Given the description of an element on the screen output the (x, y) to click on. 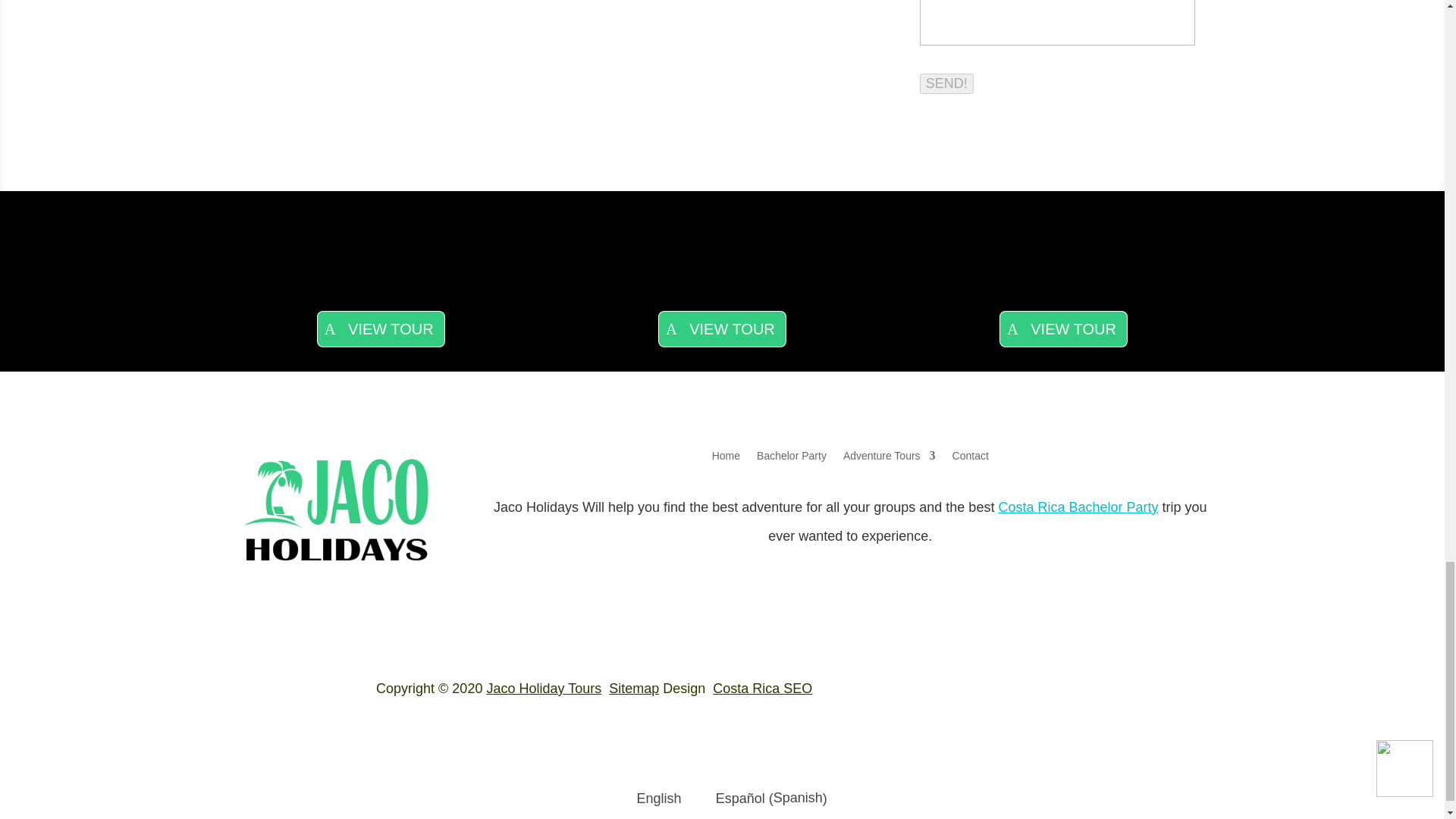
Adventure Tours (889, 458)
Jaco Adventure Tours (889, 458)
VIEW TOUR (1062, 329)
Bachelor Party (792, 458)
Jaco Holiday Tours (337, 572)
Costa Rica Bachelor Party (792, 458)
Costa Rica Bachelor Party (1077, 507)
Contact (970, 458)
Jaco Holiday Tours (543, 688)
VIEW TOUR (722, 329)
Sitemap (633, 688)
Costa Rica SEO (762, 688)
SEND! (947, 83)
Home (725, 458)
SEND! (947, 83)
